Given the description of an element on the screen output the (x, y) to click on. 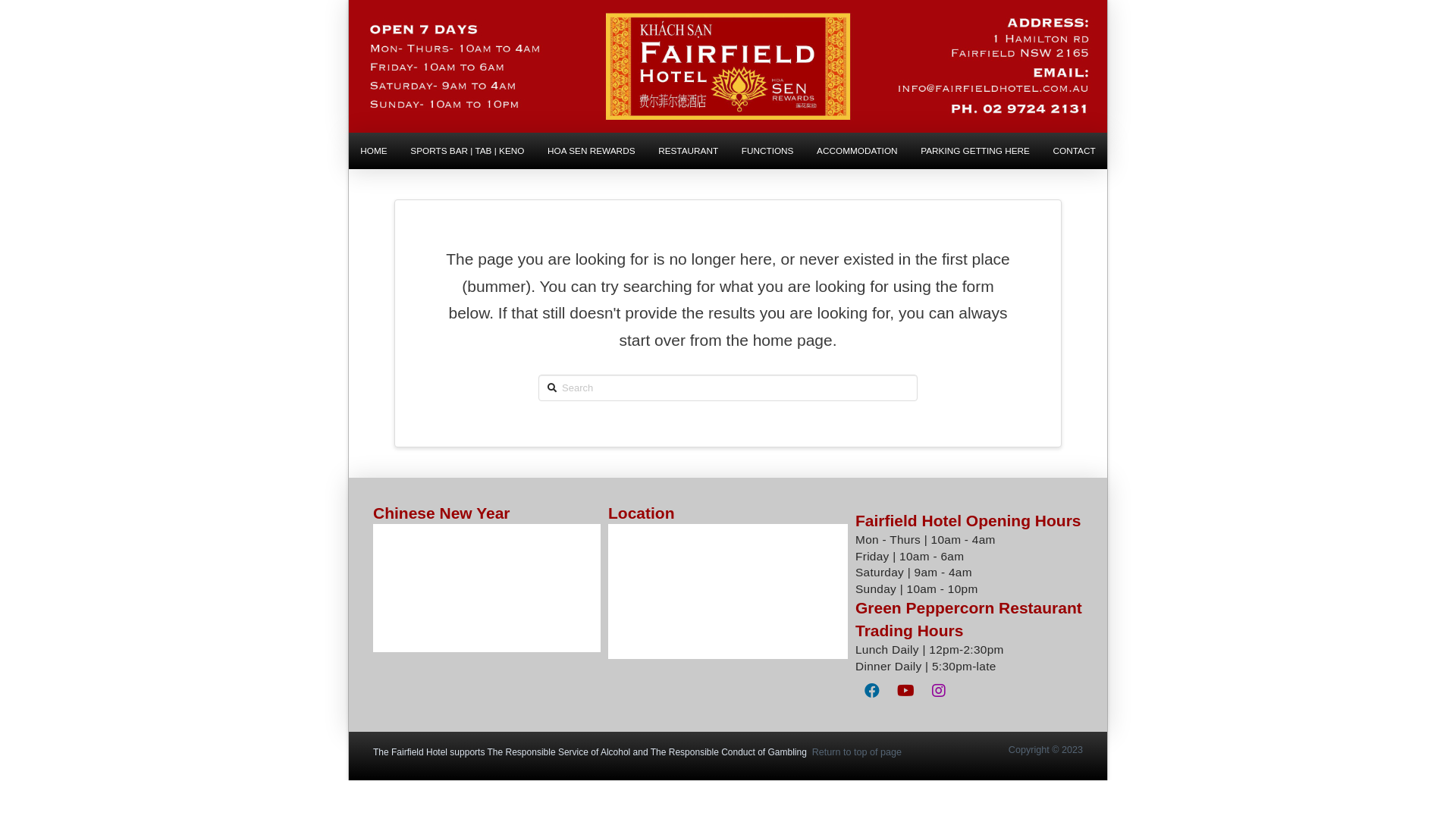
SPORTS BAR | TAB | KENO Element type: text (467, 150)
ACCOMMODATION Element type: text (857, 150)
CONTACT Element type: text (1074, 150)
Return to top of page Element type: text (856, 752)
FUNCTIONS Element type: text (766, 150)
YouTube video player Element type: hover (486, 588)
RESTAURANT Element type: text (688, 150)
HOA SEN REWARDS Element type: text (591, 150)
PARKING GETTING HERE Element type: text (975, 150)
HOME Element type: text (373, 150)
